Given the description of an element on the screen output the (x, y) to click on. 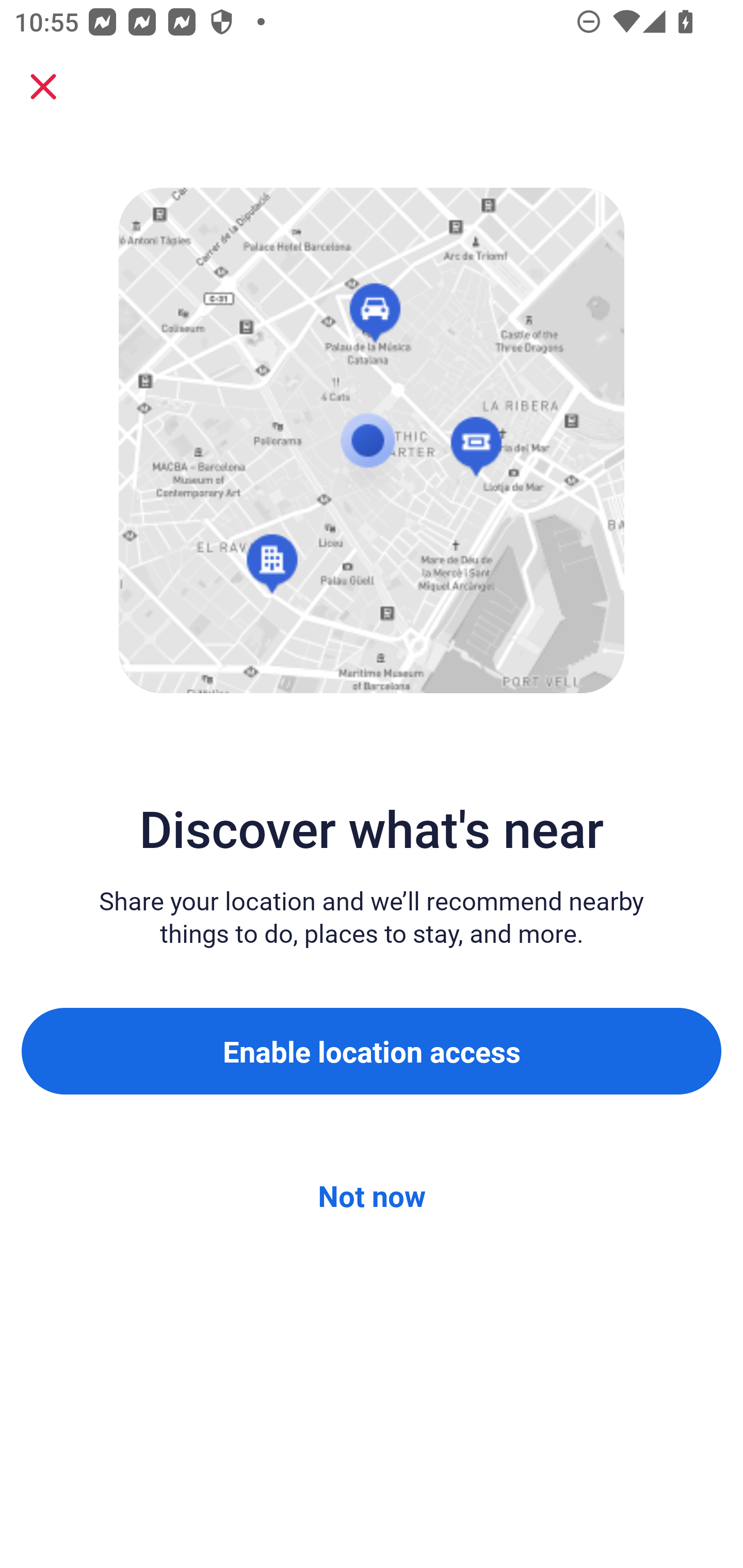
Close sheet (43, 86)
Enable location access (371, 1051)
Not now (371, 1195)
